Given the description of an element on the screen output the (x, y) to click on. 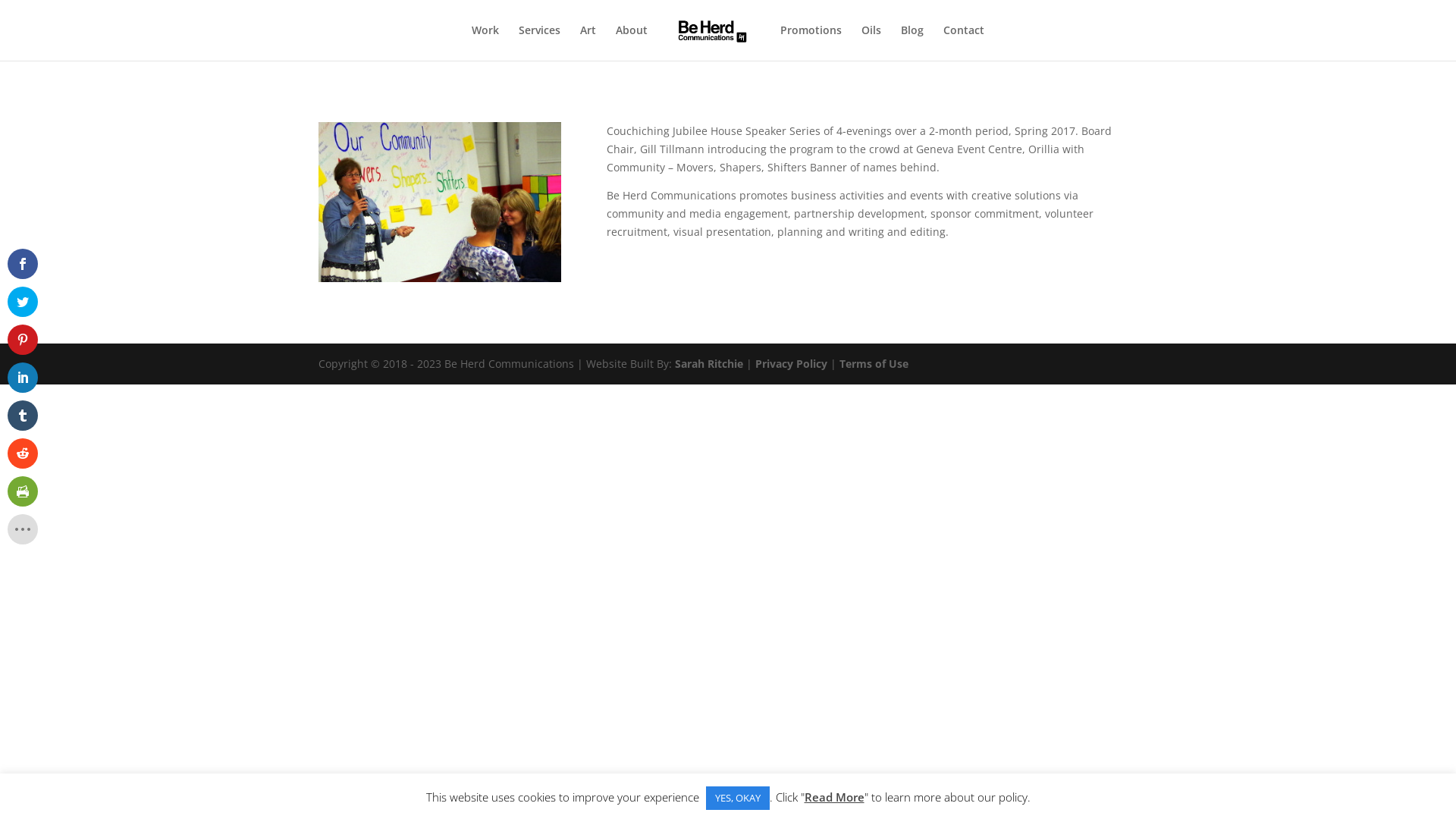
Contact Element type: text (963, 42)
Blog Element type: text (911, 42)
Sarah Ritchie Element type: text (708, 363)
Art Element type: text (588, 42)
Work Element type: text (484, 42)
Terms of Use Element type: text (873, 363)
About Element type: text (631, 42)
Read More Element type: text (833, 796)
Oils Element type: text (871, 42)
YES, OKAY Element type: text (736, 797)
Promotions Element type: text (810, 42)
Privacy Policy Element type: text (791, 363)
Services Element type: text (539, 42)
